Given the description of an element on the screen output the (x, y) to click on. 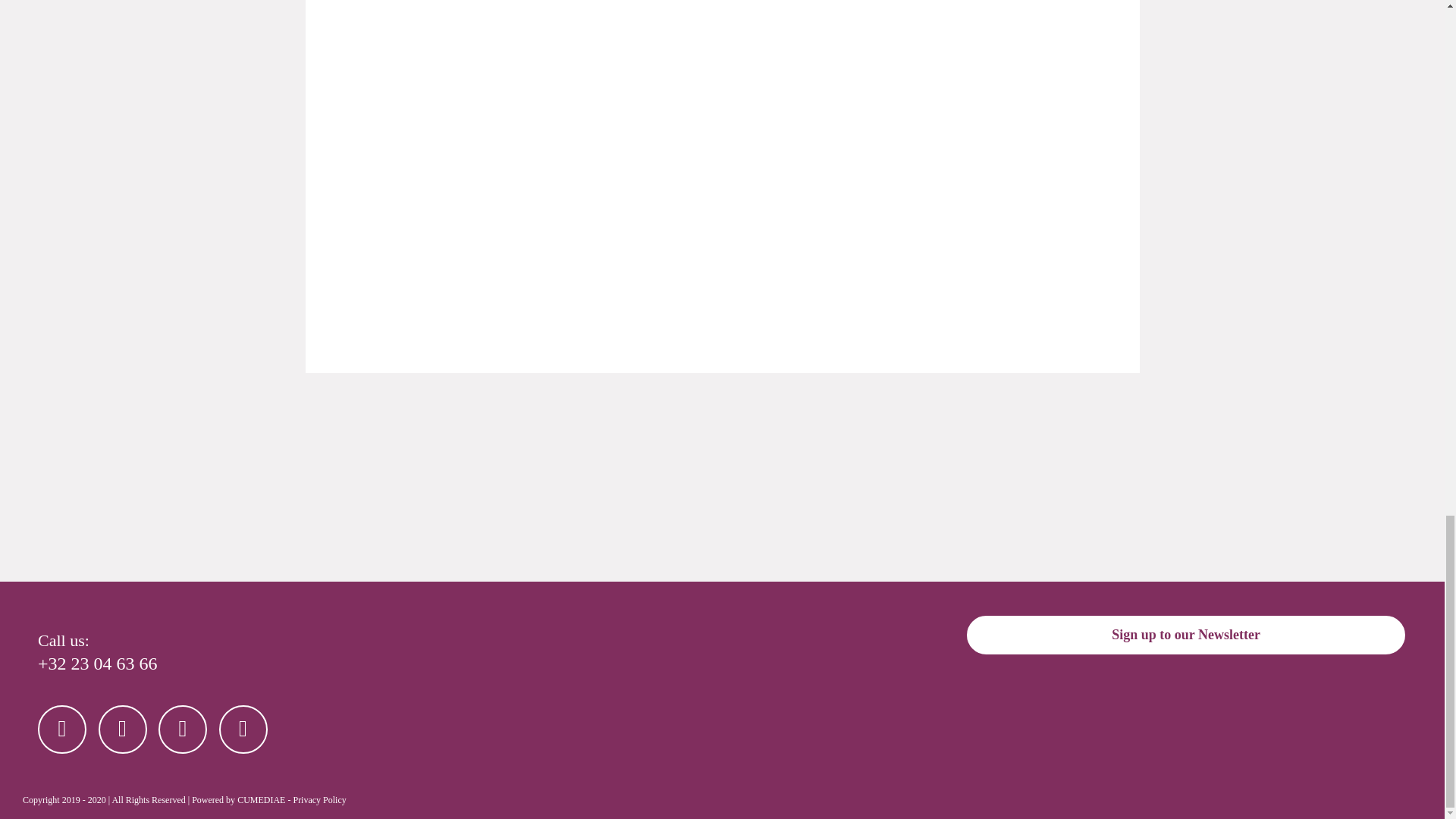
Privacy Policy (319, 799)
Sign up to our Newsletter (1185, 635)
Instagram (182, 729)
CUMEDIAE (261, 799)
Twitter (123, 729)
LinkedIn (242, 729)
Facebook (61, 729)
